Given the description of an element on the screen output the (x, y) to click on. 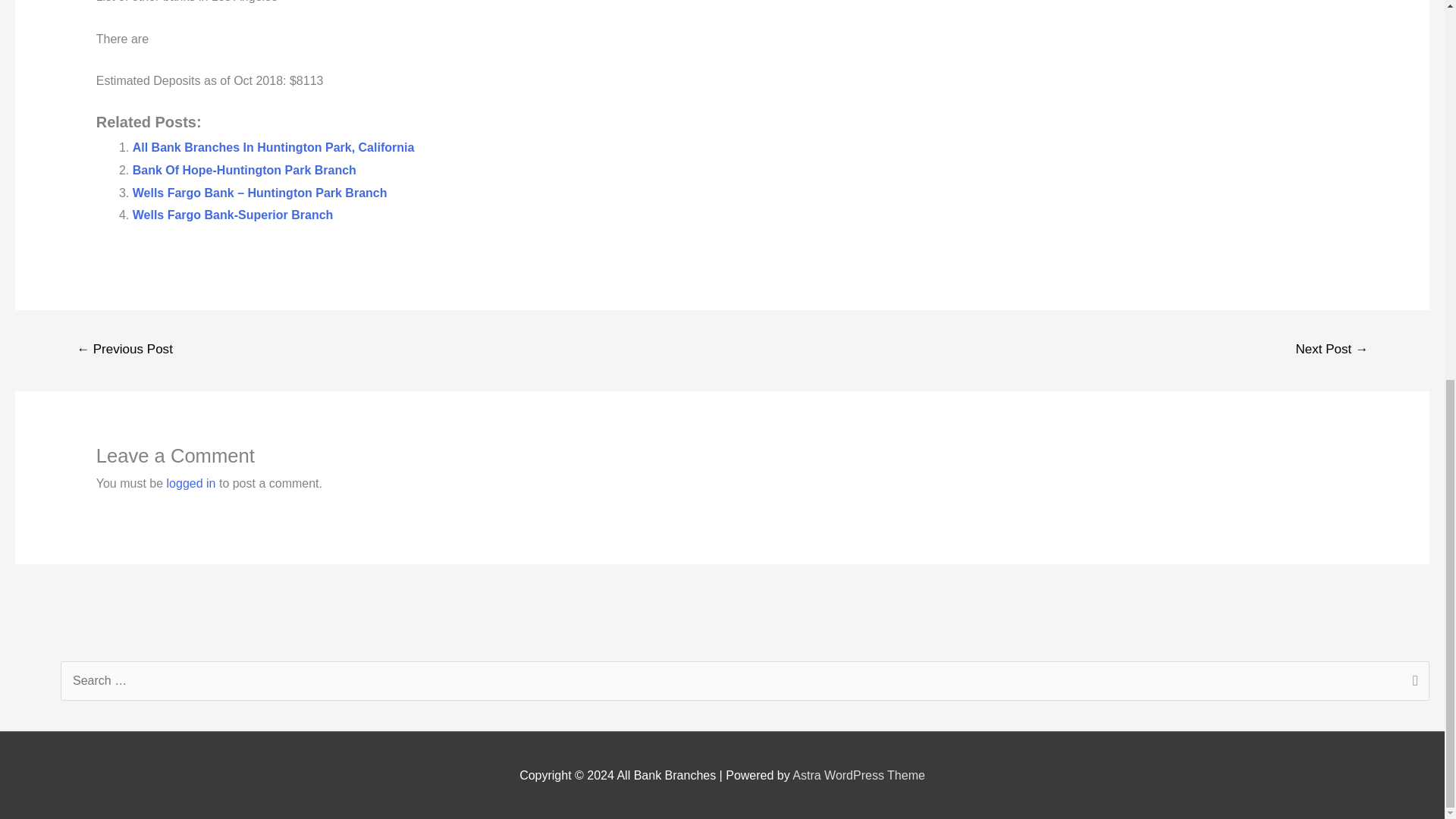
Wells Fargo Bank-Superior Branch (232, 214)
logged in (191, 482)
All Bank Branches In Huntington Park, California (273, 146)
Wells Fargo Bank-Superior Branch (232, 214)
Astra WordPress Theme (858, 775)
Bank Of Hope-Huntington Park Branch (244, 169)
All Bank Branches In Huntington Park, California (273, 146)
Bank Of Hope-Huntington Park Branch (244, 169)
